Given the description of an element on the screen output the (x, y) to click on. 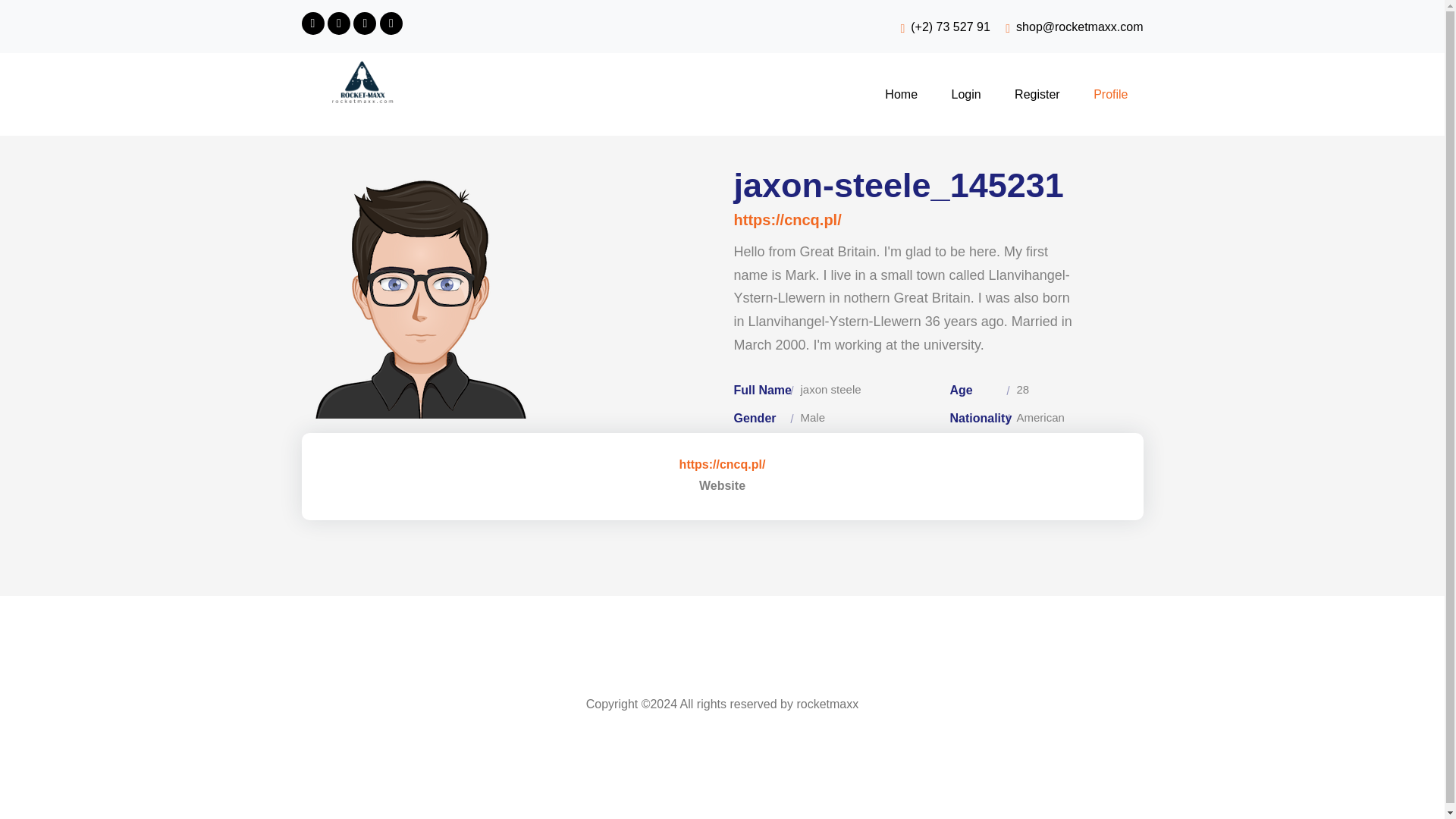
Home (901, 94)
Register (1036, 94)
Login (965, 94)
Profile (1110, 94)
